Given the description of an element on the screen output the (x, y) to click on. 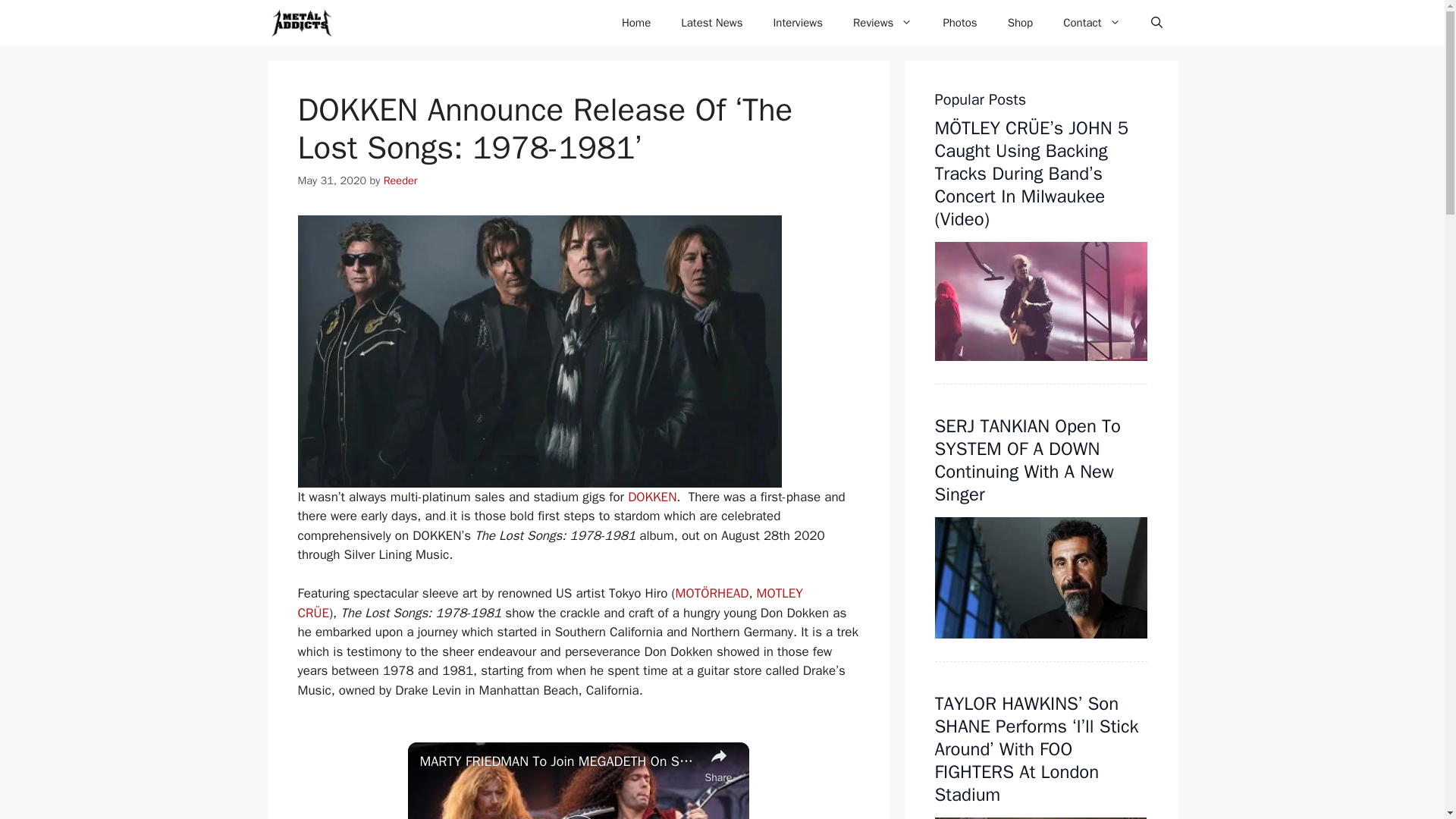
Play Video (576, 816)
View all posts by Reeder (400, 180)
Metal Addicts Shop (1020, 22)
Photos (959, 22)
Home (636, 22)
Share (718, 763)
Contact (1091, 22)
Reviews (882, 22)
Reeder (400, 180)
Play Video (576, 816)
Latest News (711, 22)
DOKKEN (652, 496)
share (718, 763)
Interviews (797, 22)
